Given the description of an element on the screen output the (x, y) to click on. 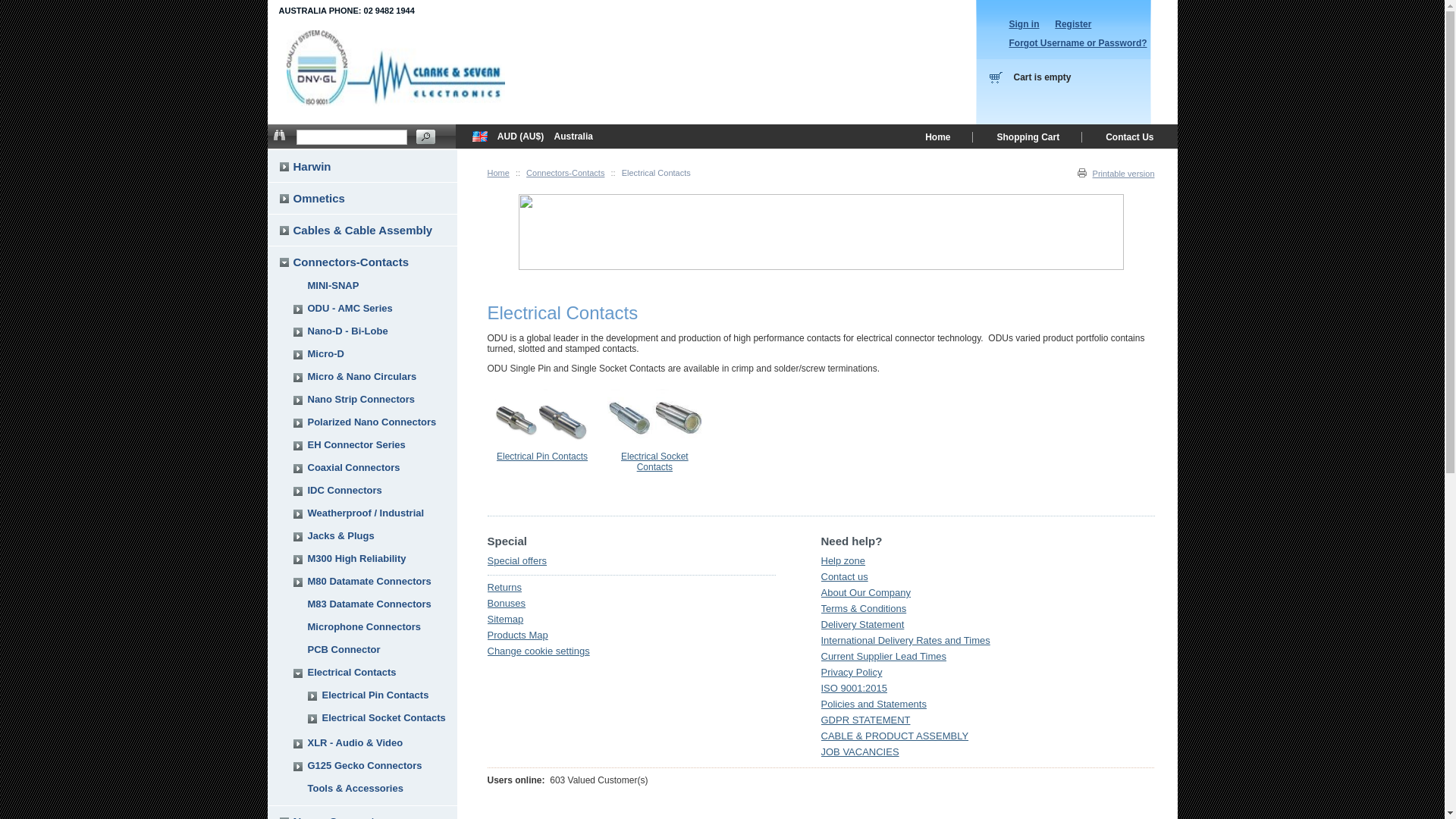
Electrical Contacts Element type: text (351, 671)
Contact us Element type: text (843, 576)
Harwin Element type: text (311, 166)
Printable version Element type: text (1115, 173)
M80 Datamate Connectors Element type: text (369, 580)
GDPR STATEMENT Element type: text (865, 719)
M83 Datamate Connectors Element type: text (369, 603)
MINI-SNAP Element type: text (333, 285)
Shopping Cart Element type: text (1027, 140)
Contact Us Element type: text (1129, 140)
Bonuses Element type: text (505, 602)
Register Element type: text (1072, 23)
Electrical Pin Contacts Element type: text (541, 456)
Language: English Element type: hover (478, 136)
XLR - Audio & Video Element type: text (355, 742)
Micro & Nano Circulars Element type: text (362, 376)
G125 Gecko Connectors Element type: text (364, 765)
Weatherproof / Industrial Element type: text (365, 512)
Special offers Element type: text (516, 560)
Sign in Element type: text (1023, 23)
Privacy Policy Element type: text (850, 671)
Policies and Statements Element type: text (872, 703)
Connectors-Contacts Element type: text (350, 261)
Products Map Element type: text (516, 634)
Micro-D Element type: text (325, 353)
Returns Element type: text (503, 587)
Polarized Nano Connectors Element type: text (371, 421)
Delivery Statement Element type: text (861, 624)
Jacks & Plugs Element type: text (340, 535)
Coaxial Connectors Element type: text (353, 467)
Forgot Username or Password? Element type: text (1077, 42)
Sitemap Element type: text (504, 618)
Nano-D - Bi-Lobe Element type: text (347, 330)
Electrical Socket Contacts Element type: text (654, 461)
IDC Connectors Element type: text (344, 489)
Electrical Pin Contacts Element type: text (374, 694)
Connectors-Contacts Element type: text (565, 172)
Electrical Socket Contacts Element type: text (383, 717)
Change cookie settings Element type: text (537, 650)
Home Element type: text (937, 140)
Nano Strip Connectors Element type: text (361, 398)
M300 High Reliability Element type: text (356, 558)
Microphone Connectors Element type: text (364, 626)
Tools & Accessories Element type: text (355, 787)
EH Connector Series Element type: text (356, 444)
Omnetics Element type: text (318, 197)
Terms & Conditions Element type: text (863, 608)
Home Element type: text (497, 172)
ODU - AMC Series Element type: text (349, 307)
JOB VACANCIES Element type: text (859, 751)
Help zone Element type: text (842, 560)
ISO 9001:2015 Element type: text (853, 687)
PCB Connector Element type: text (343, 649)
Cables & Cable Assembly Element type: text (362, 229)
CABLE & PRODUCT ASSEMBLY Element type: text (894, 735)
AUD (AU$) Australia Element type: text (585, 135)
About Our Company Element type: text (865, 592)
Current Supplier Lead Times Element type: text (882, 656)
International Delivery Rates and Times Element type: text (904, 640)
